Given the description of an element on the screen output the (x, y) to click on. 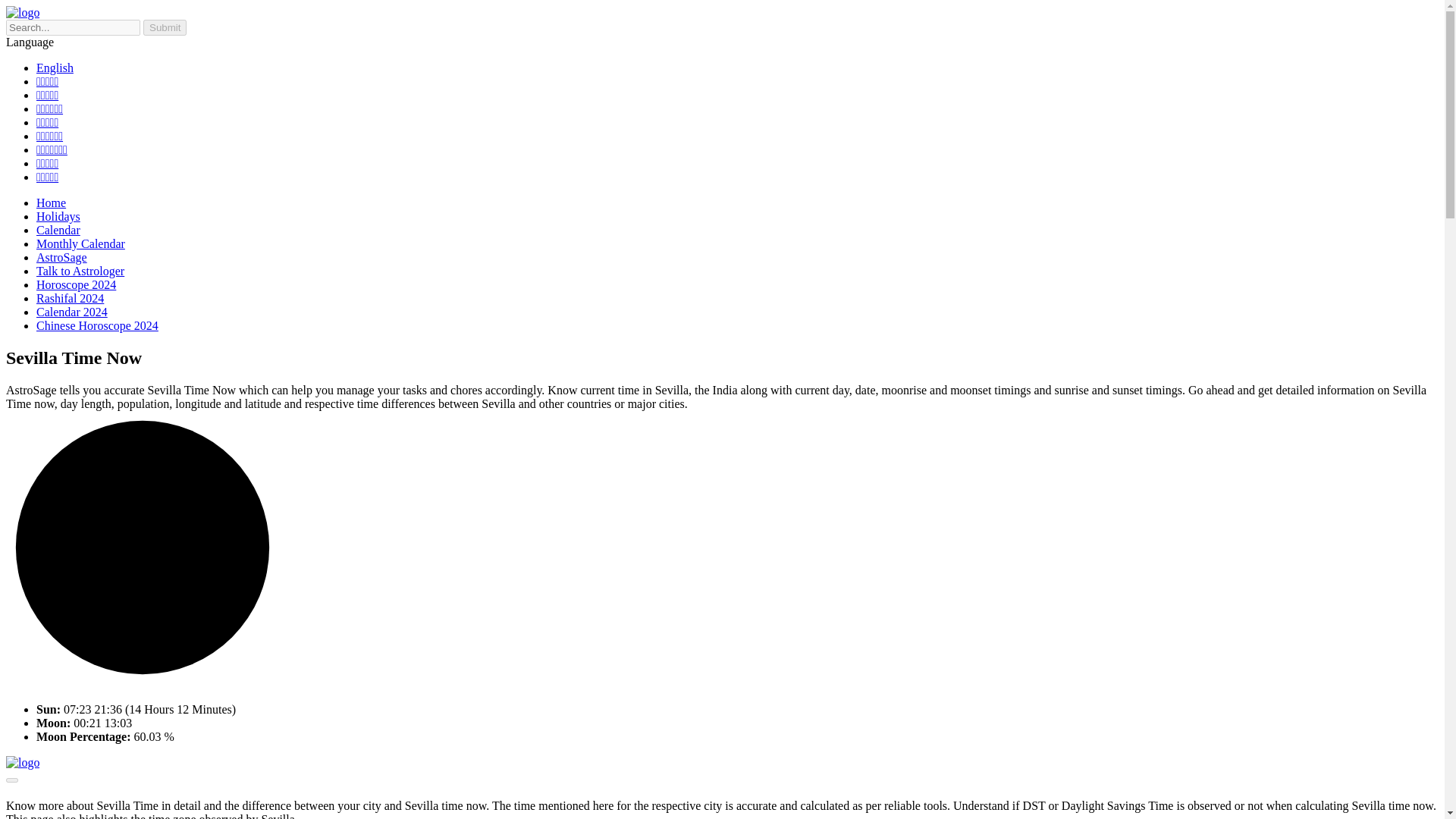
English (55, 67)
Home (50, 202)
Talk to Astrologer (79, 270)
Calendar 2024 (71, 311)
Horoscope 2024 (76, 284)
Chinese Horoscope 2024 (97, 325)
Tamil (47, 94)
Rashifal 2024 (69, 297)
Telugu (49, 108)
Kannada (47, 122)
Calendar (142, 547)
Bengali (58, 229)
Submit (47, 176)
Holidays (164, 27)
